Given the description of an element on the screen output the (x, y) to click on. 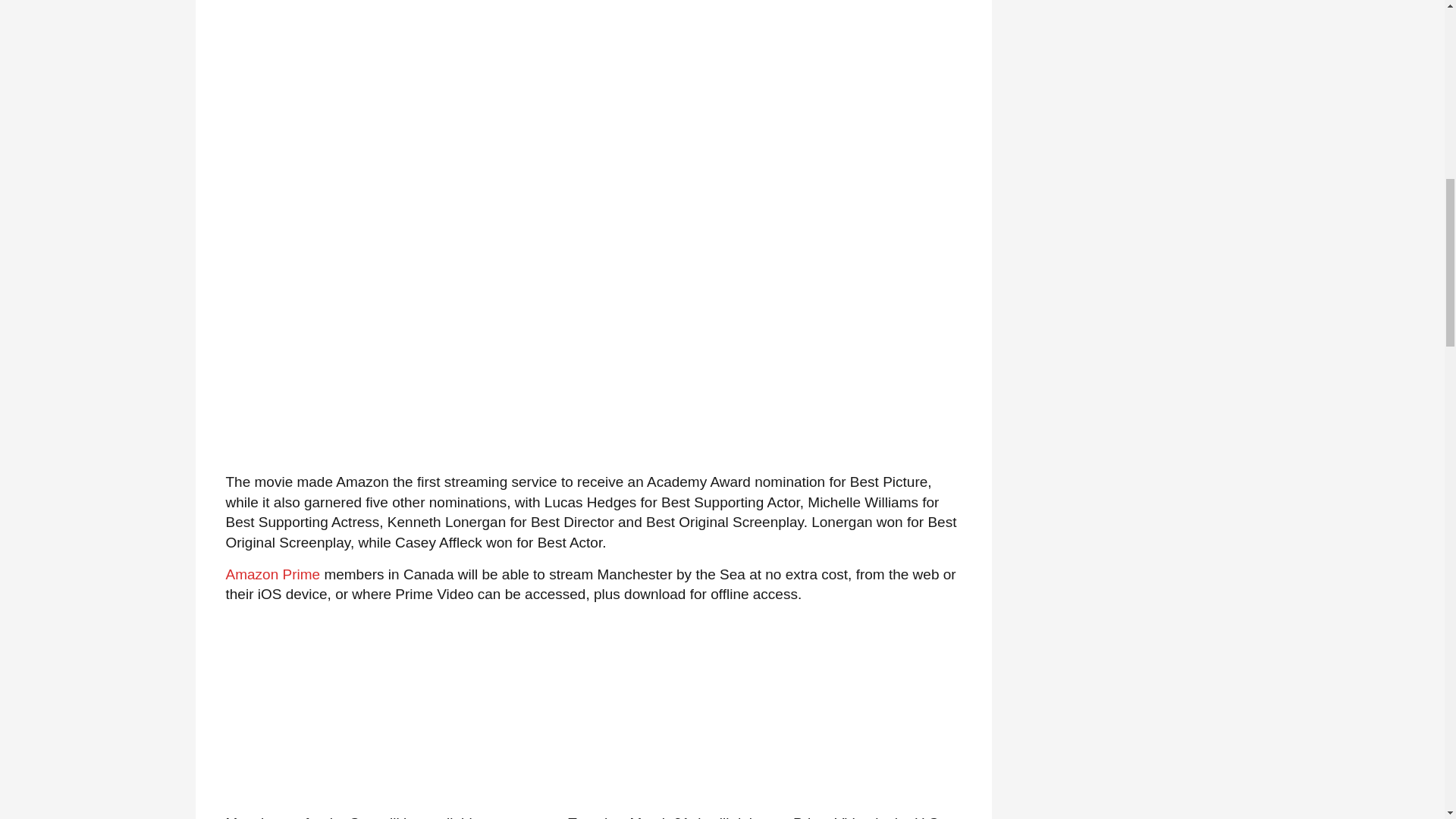
Amazon Prime (272, 574)
